Given the description of an element on the screen output the (x, y) to click on. 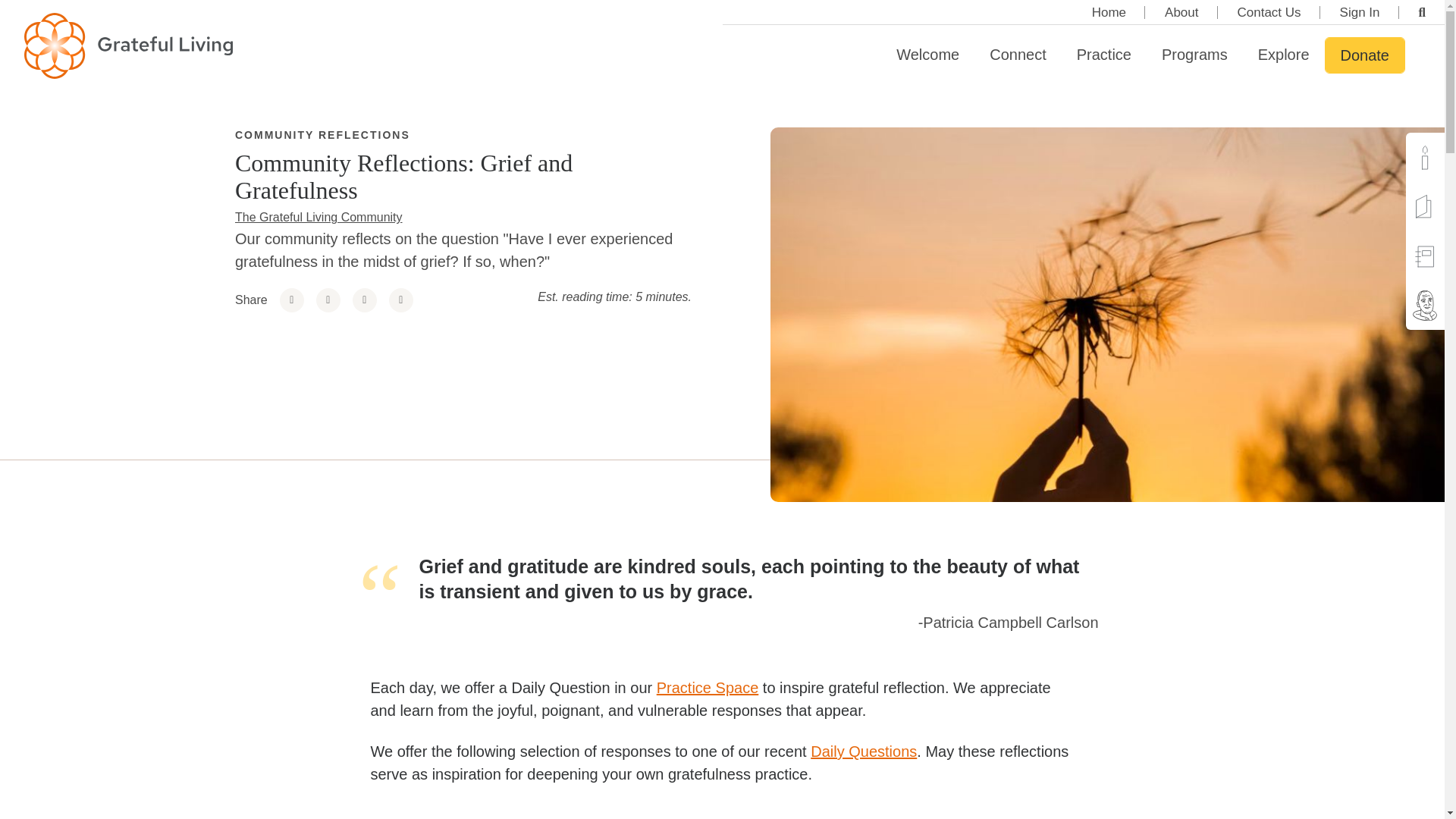
Practice Space (707, 687)
The Grateful Living Community (318, 216)
Welcome (927, 54)
Practice (1104, 54)
Contact Us (1269, 11)
Home (1109, 11)
search (1422, 11)
Share on Threads (327, 300)
Share on Facebook (291, 300)
Donate (1364, 54)
Daily Questions (863, 751)
The Grateful Living Community (318, 216)
Sign In (1359, 11)
Explore (1283, 54)
COMMUNITY REFLECTIONS (322, 134)
